Given the description of an element on the screen output the (x, y) to click on. 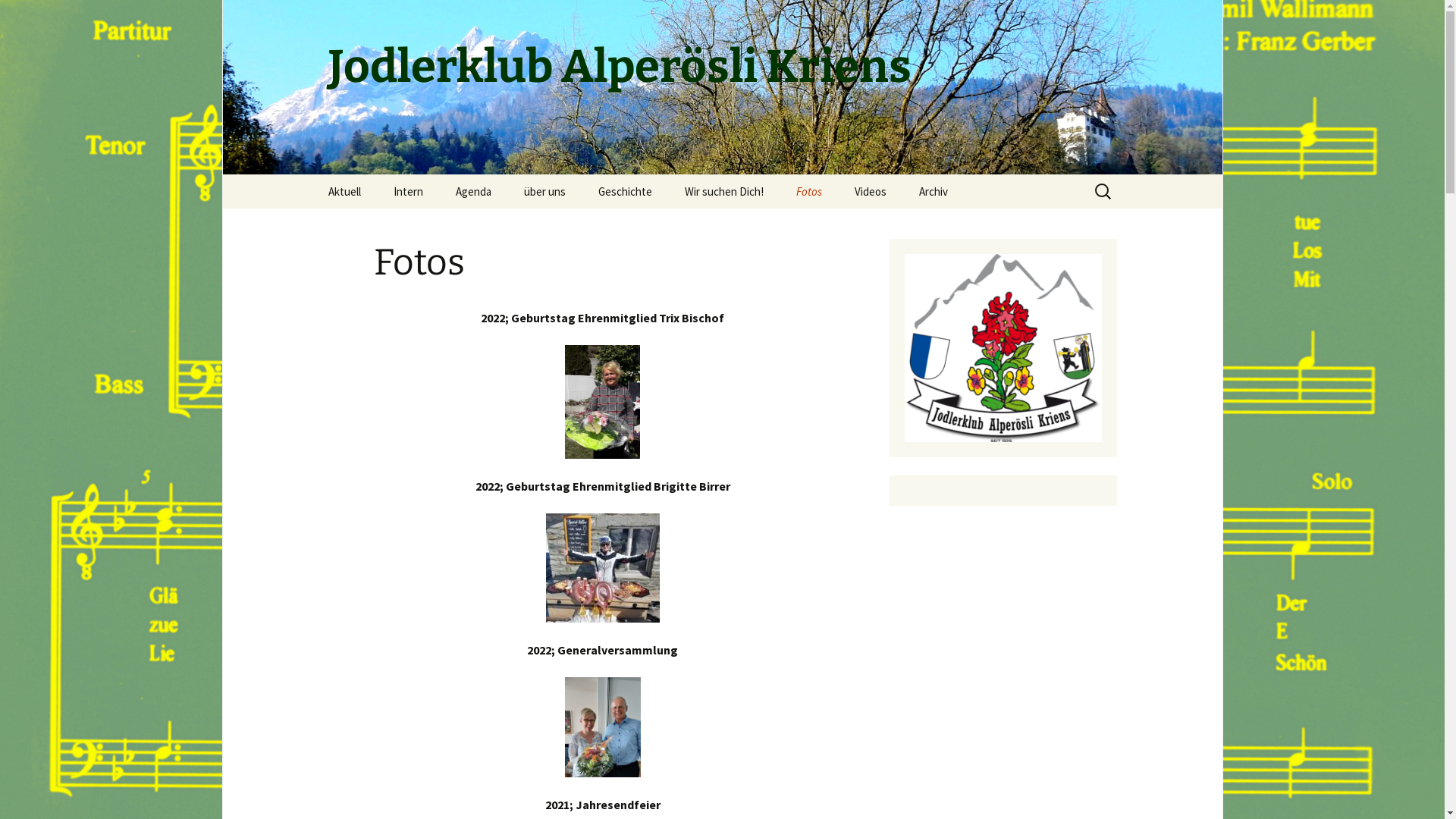
Wir suchen Dich! Element type: text (723, 191)
2022; Geburtstag Ehrenmitglied Trix Bischof Element type: text (856, 236)
2019 Element type: text (979, 225)
Geschichte Element type: text (624, 191)
Aktuell Element type: text (343, 191)
Agenda Element type: text (472, 191)
Videos Element type: text (869, 191)
Vorstand Element type: text (583, 225)
Springe zum Inhalt Element type: text (312, 173)
Intern Element type: text (407, 191)
Suche Element type: text (18, 16)
Fotos Element type: text (809, 191)
Archiv Element type: text (933, 191)
